Given the description of an element on the screen output the (x, y) to click on. 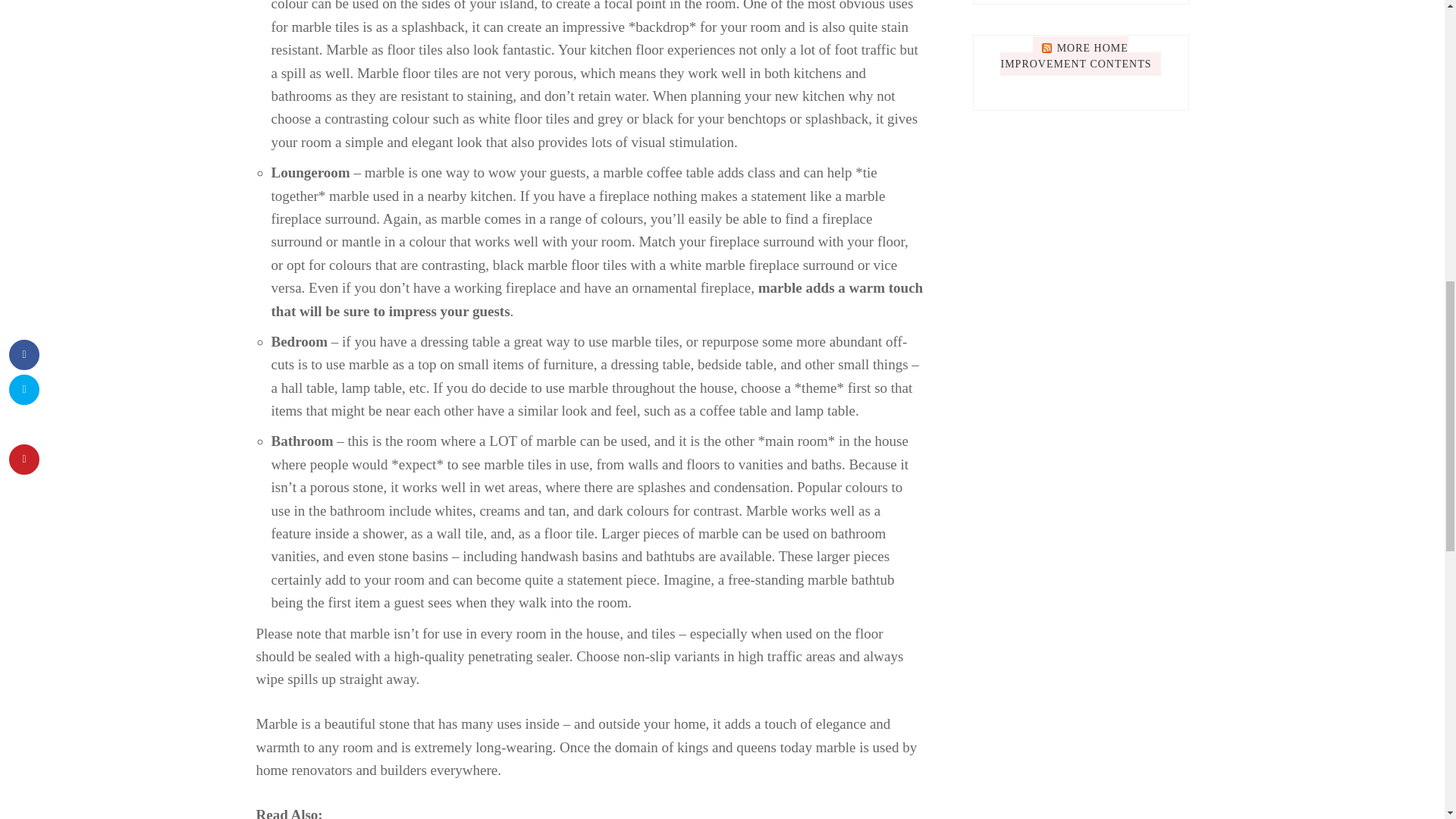
Tweet (349, 54)
Share on Twitter (349, 54)
What Are Pergolas, and What Are Their Benefits? (1047, 54)
MORE HOME IMPROVEMENT CONTENTS (1075, 55)
Share on Facebook (285, 54)
Share (285, 54)
Pin it on Pinterest (415, 54)
Pin It (415, 54)
